Given the description of an element on the screen output the (x, y) to click on. 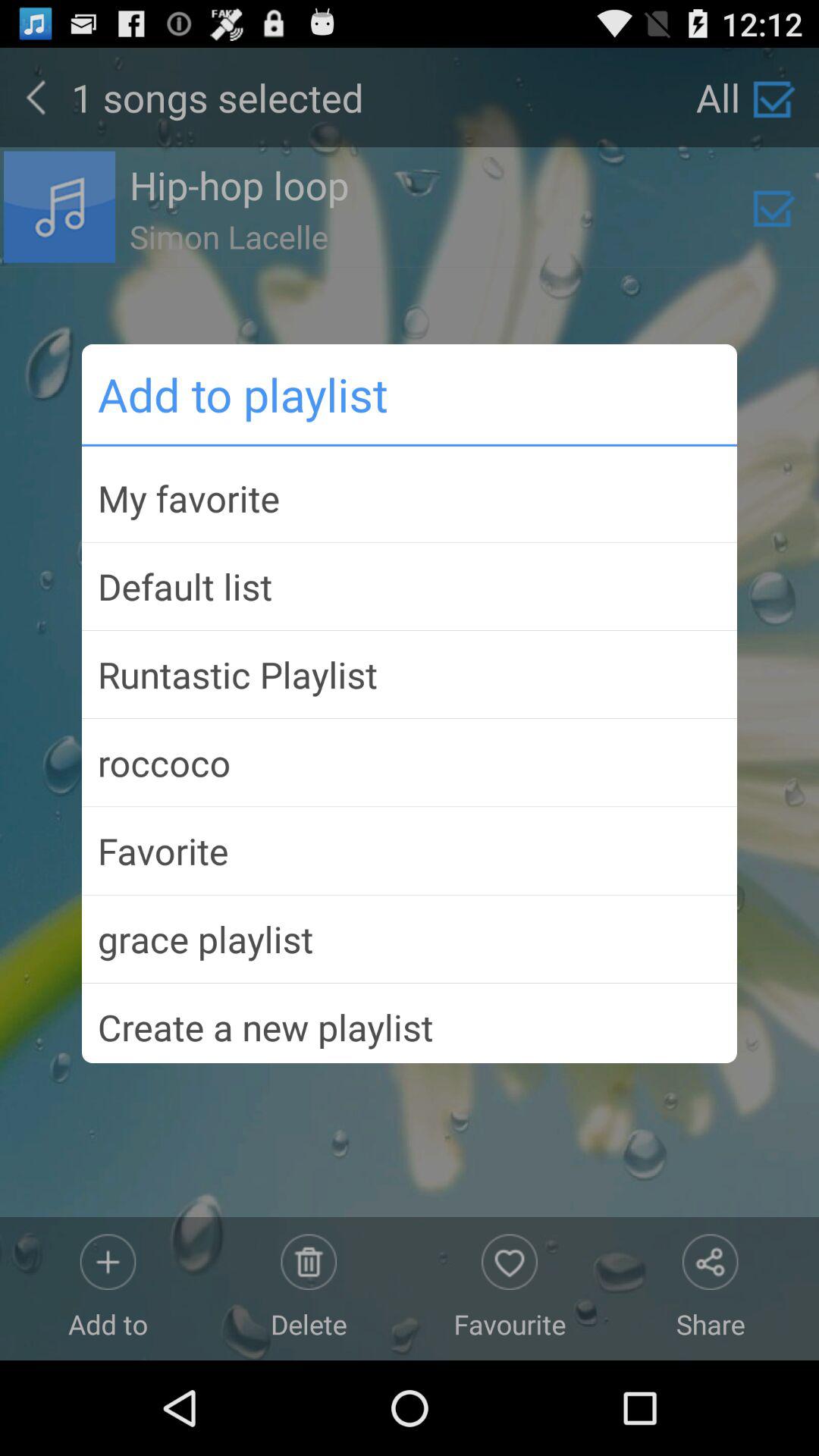
tap create a new app (409, 1021)
